Given the description of an element on the screen output the (x, y) to click on. 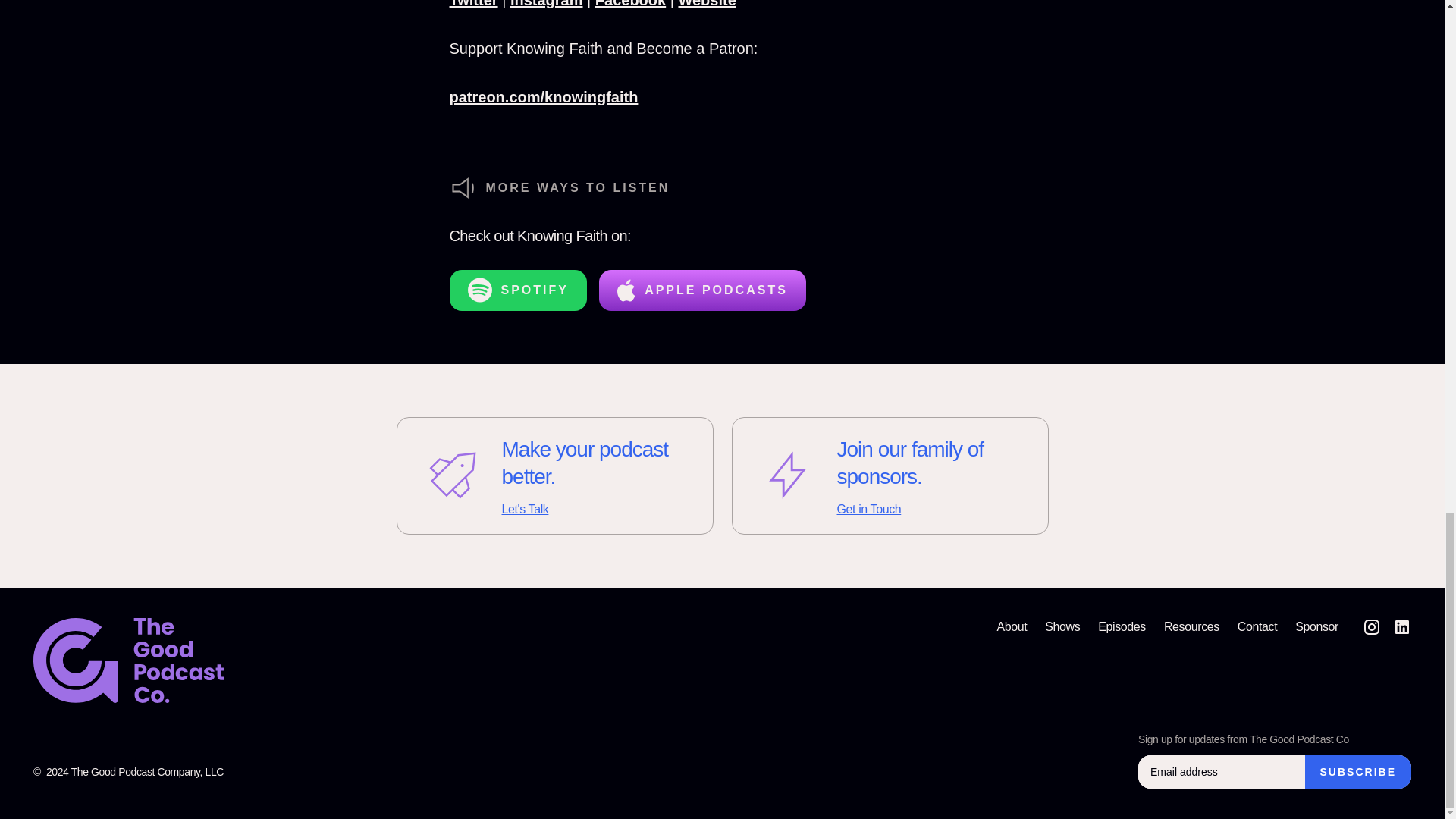
About (1010, 626)
Subscribe (1357, 771)
APPLE PODCASTS (702, 290)
SPOTIFY (517, 290)
Website (706, 4)
Episodes (1121, 626)
Instagram (554, 475)
Subscribe (547, 4)
Facebook (1357, 771)
Twitter (889, 475)
Shows (630, 4)
Resources (472, 4)
Sponsor (1062, 626)
